Given the description of an element on the screen output the (x, y) to click on. 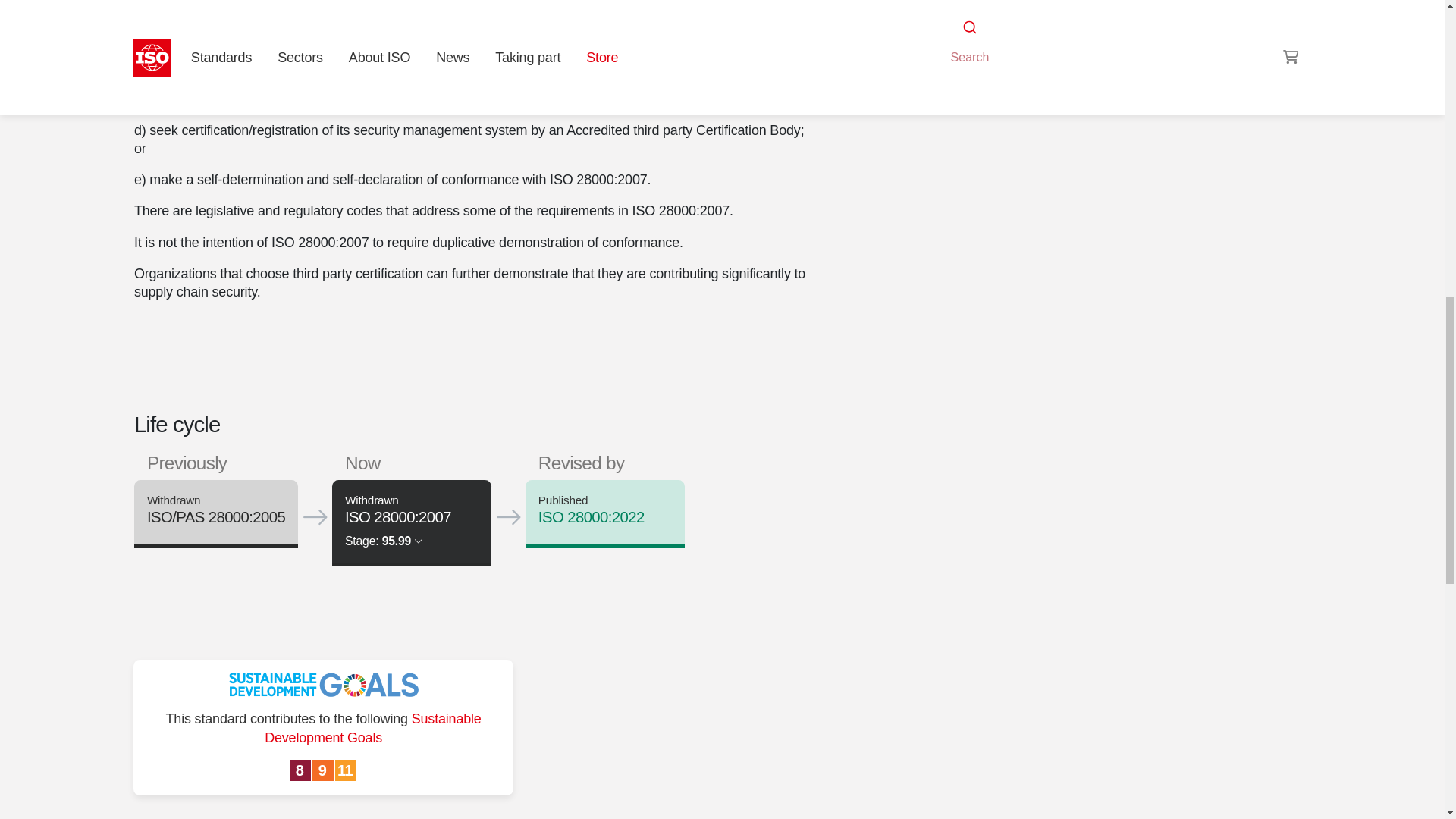
Company organization and management in general (997, 8)
RSS (956, 38)
03.100.01 (997, 8)
Stage: 95.99 (383, 540)
Decent Work and Economic Growth (301, 771)
03.100.70 (1063, 8)
Management systems (1063, 8)
